Given the description of an element on the screen output the (x, y) to click on. 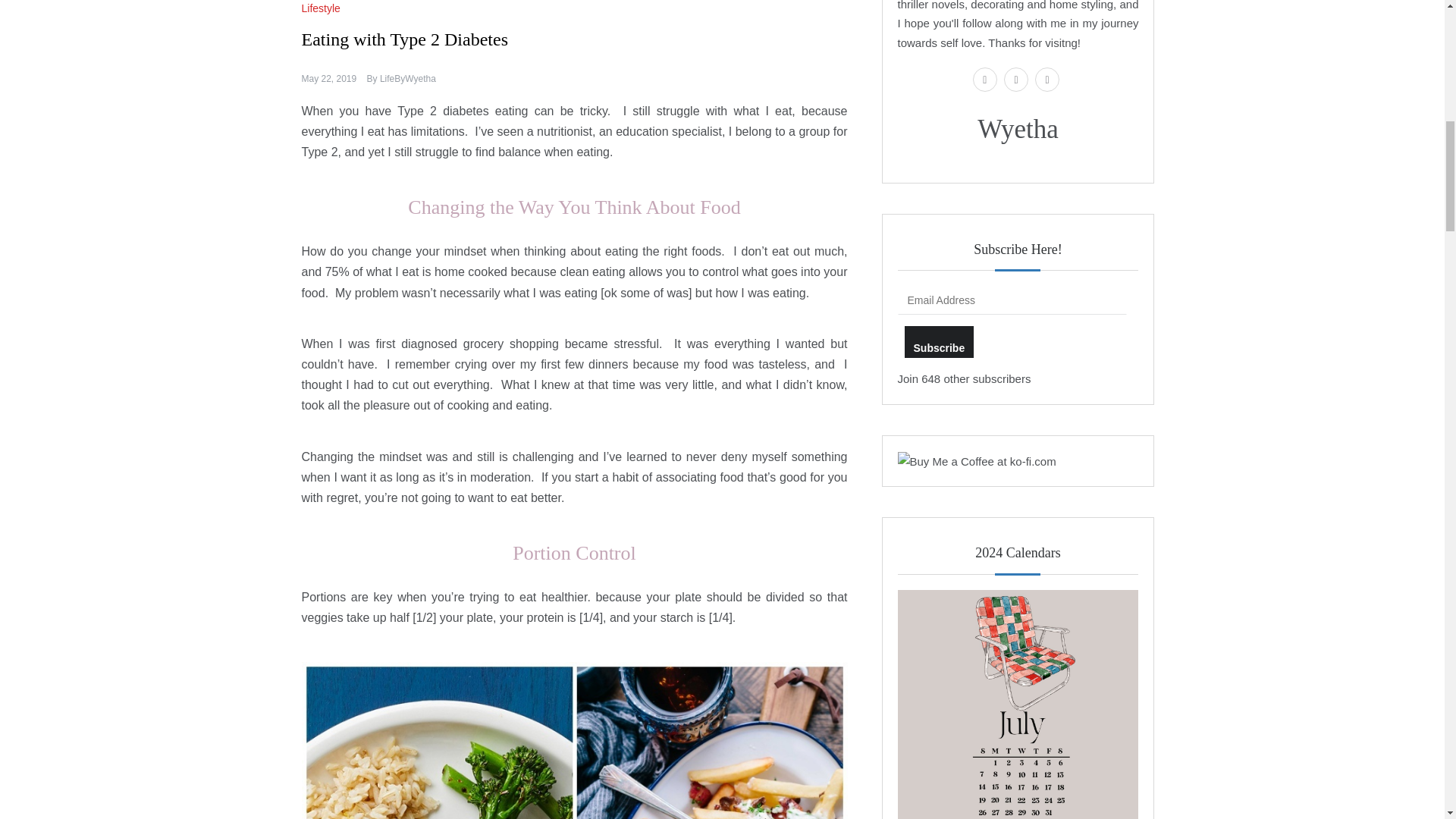
LifeByWyetha (407, 78)
May 22, 2019 (328, 78)
Lifestyle (322, 8)
Thanksgiving Prep List (1018, 704)
